Given the description of an element on the screen output the (x, y) to click on. 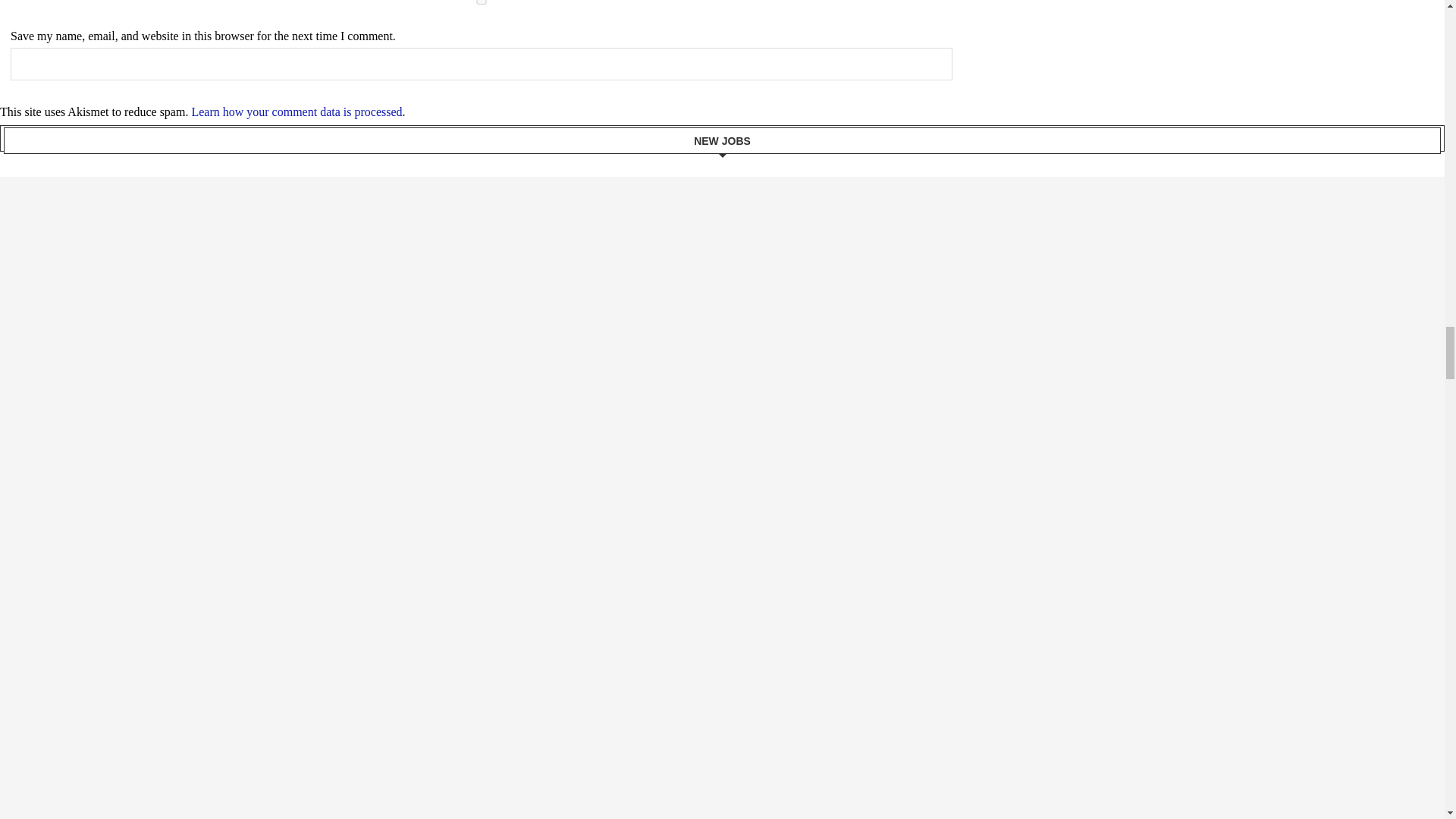
Submit (481, 63)
